Given the description of an element on the screen output the (x, y) to click on. 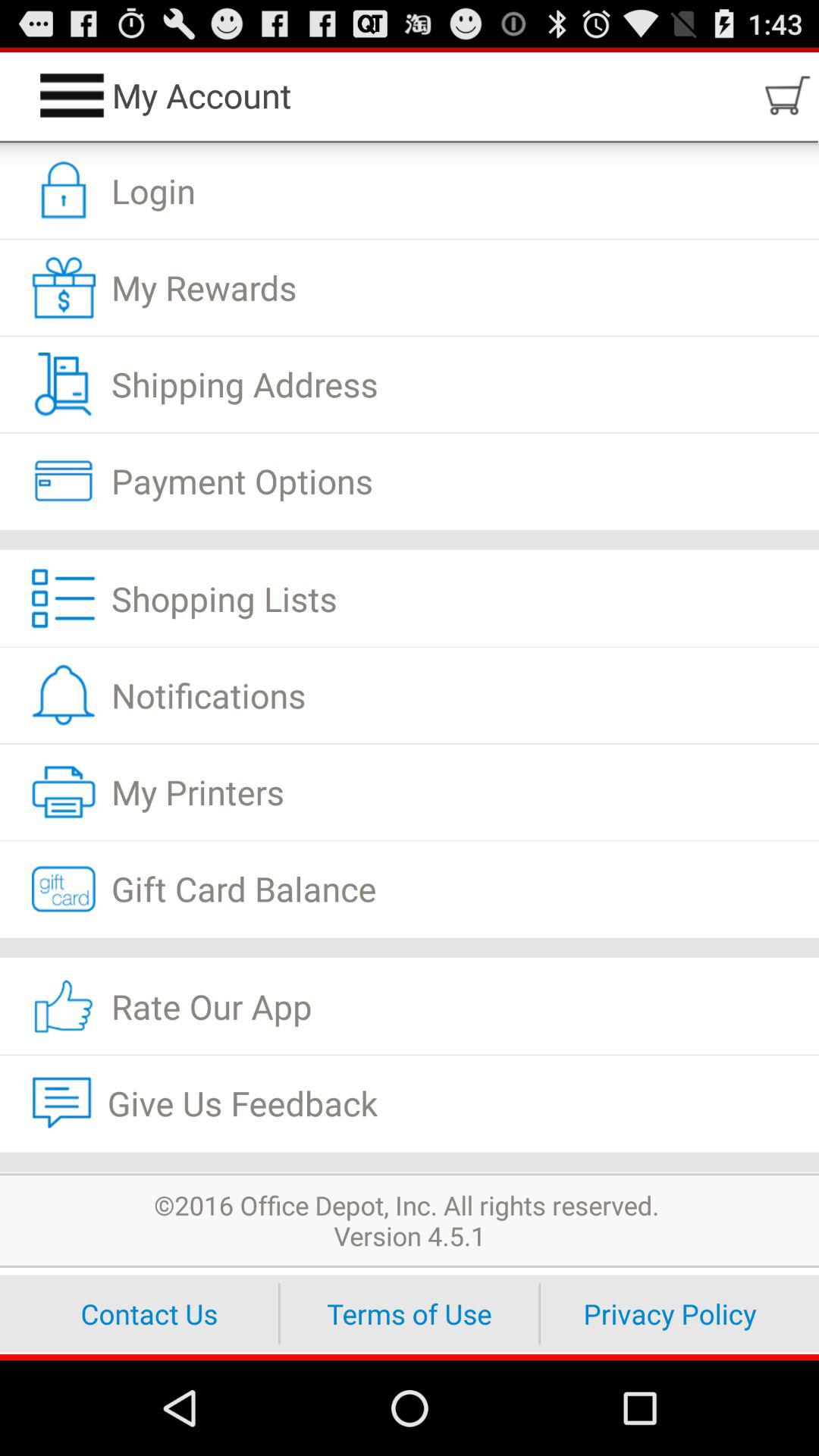
flip until my printers item (409, 792)
